Given the description of an element on the screen output the (x, y) to click on. 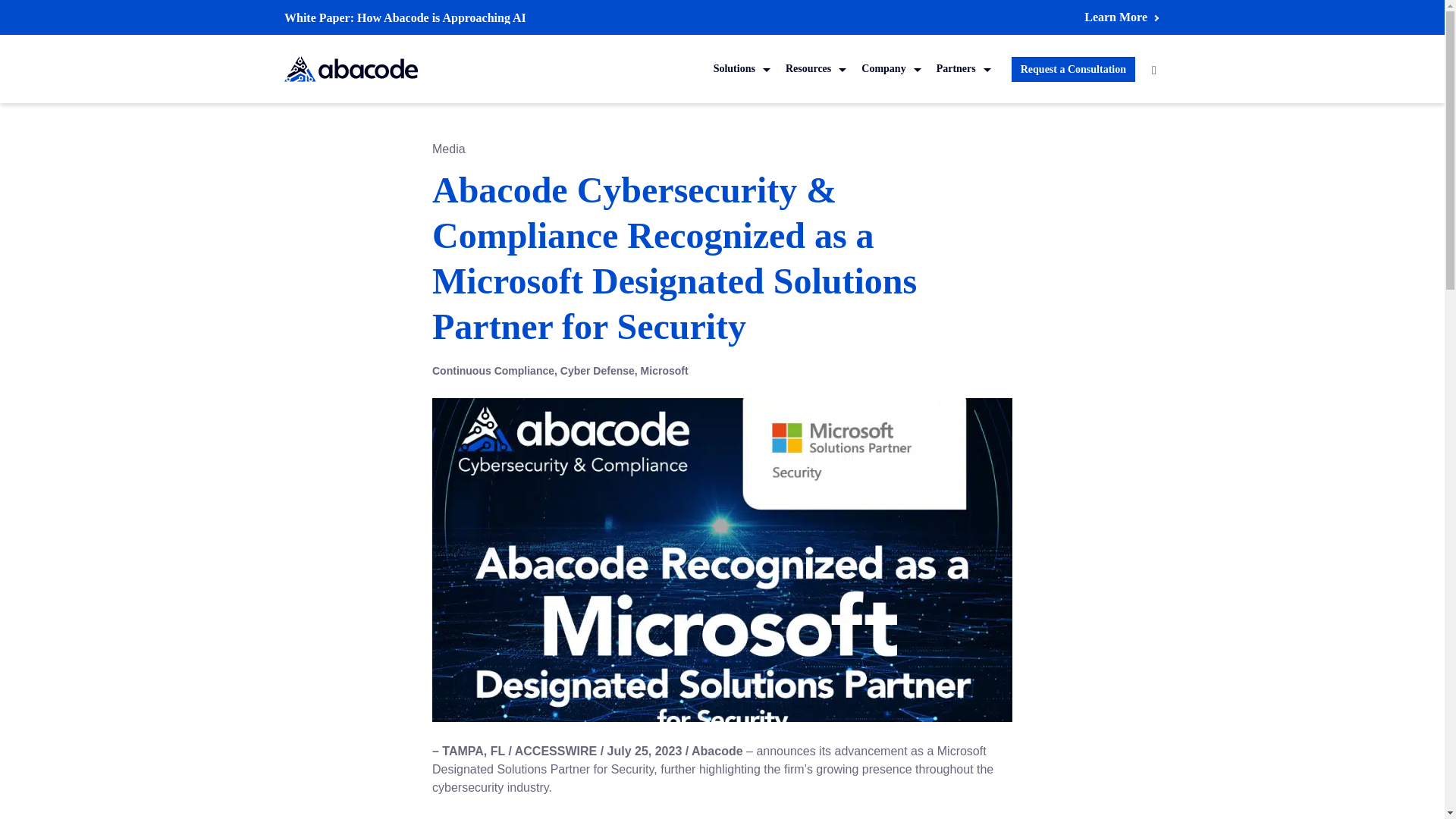
Partners (963, 68)
Learn More (1120, 17)
Company (890, 68)
Solutions (741, 68)
Resources (815, 68)
Request a Consultation (1073, 68)
